Given the description of an element on the screen output the (x, y) to click on. 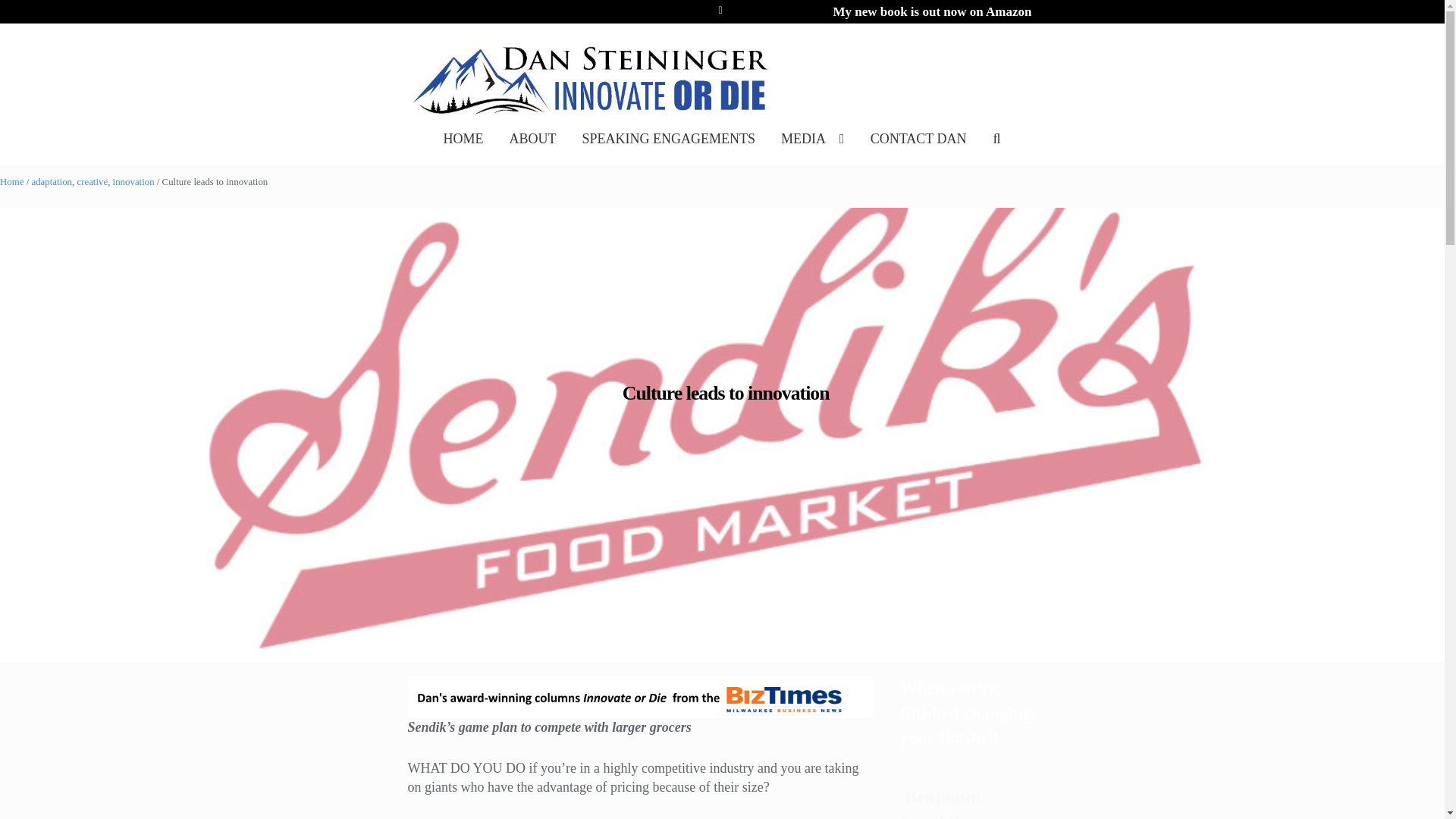
HOME (463, 154)
My new book is out now on Amazon (931, 11)
CONTACT DAN (918, 154)
ABOUT (532, 154)
MEDIA (812, 154)
innovation (133, 181)
adaptation (50, 181)
SPEAKING ENGAGEMENTS (668, 154)
creative (92, 181)
Home (11, 181)
